Given the description of an element on the screen output the (x, y) to click on. 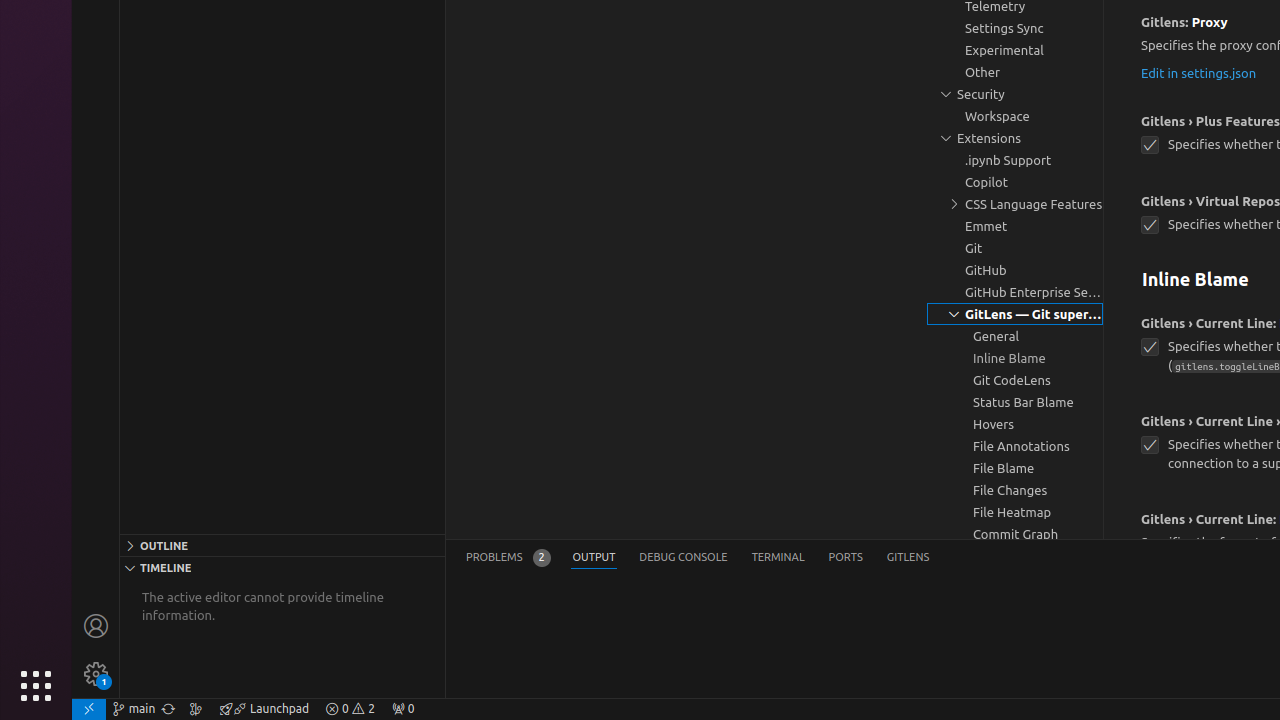
File Annotations, group Element type: tree-item (1015, 446)
gitlens.plusFeatures.enabled Element type: check-box (1150, 145)
General, group Element type: tree-item (1015, 336)
File Heatmap, group Element type: tree-item (1015, 512)
